Given the description of an element on the screen output the (x, y) to click on. 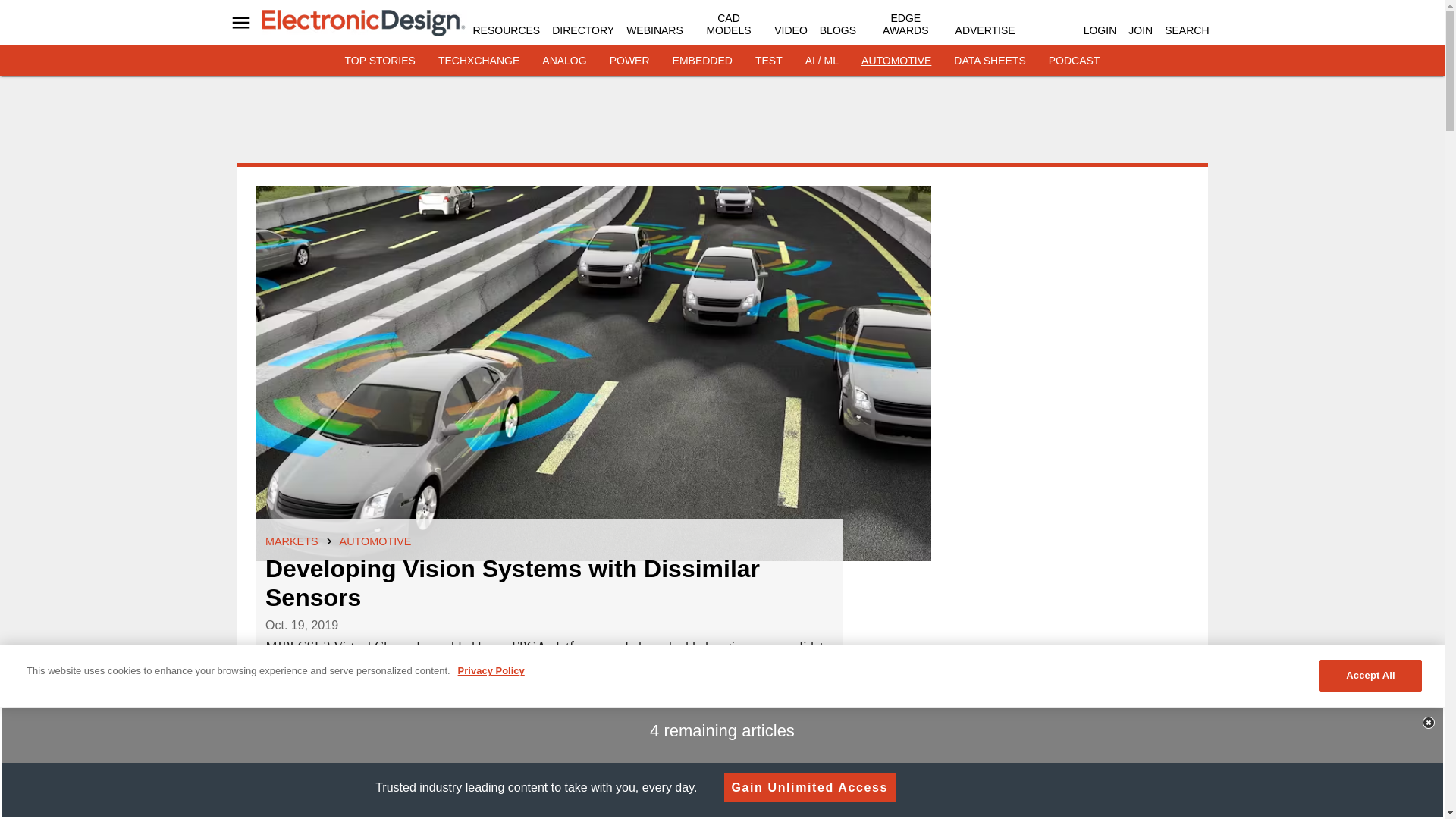
TOP STORIES (379, 60)
WEBINARS (654, 30)
3rd party ad content (722, 124)
ANALOG (563, 60)
SEARCH (1186, 30)
LOGIN (1099, 30)
JOIN (1140, 30)
EDGE AWARDS (905, 24)
BLOGS (837, 30)
ADVERTISE (984, 30)
DIRECTORY (582, 30)
DATA SHEETS (989, 60)
VIDEO (791, 30)
